Given the description of an element on the screen output the (x, y) to click on. 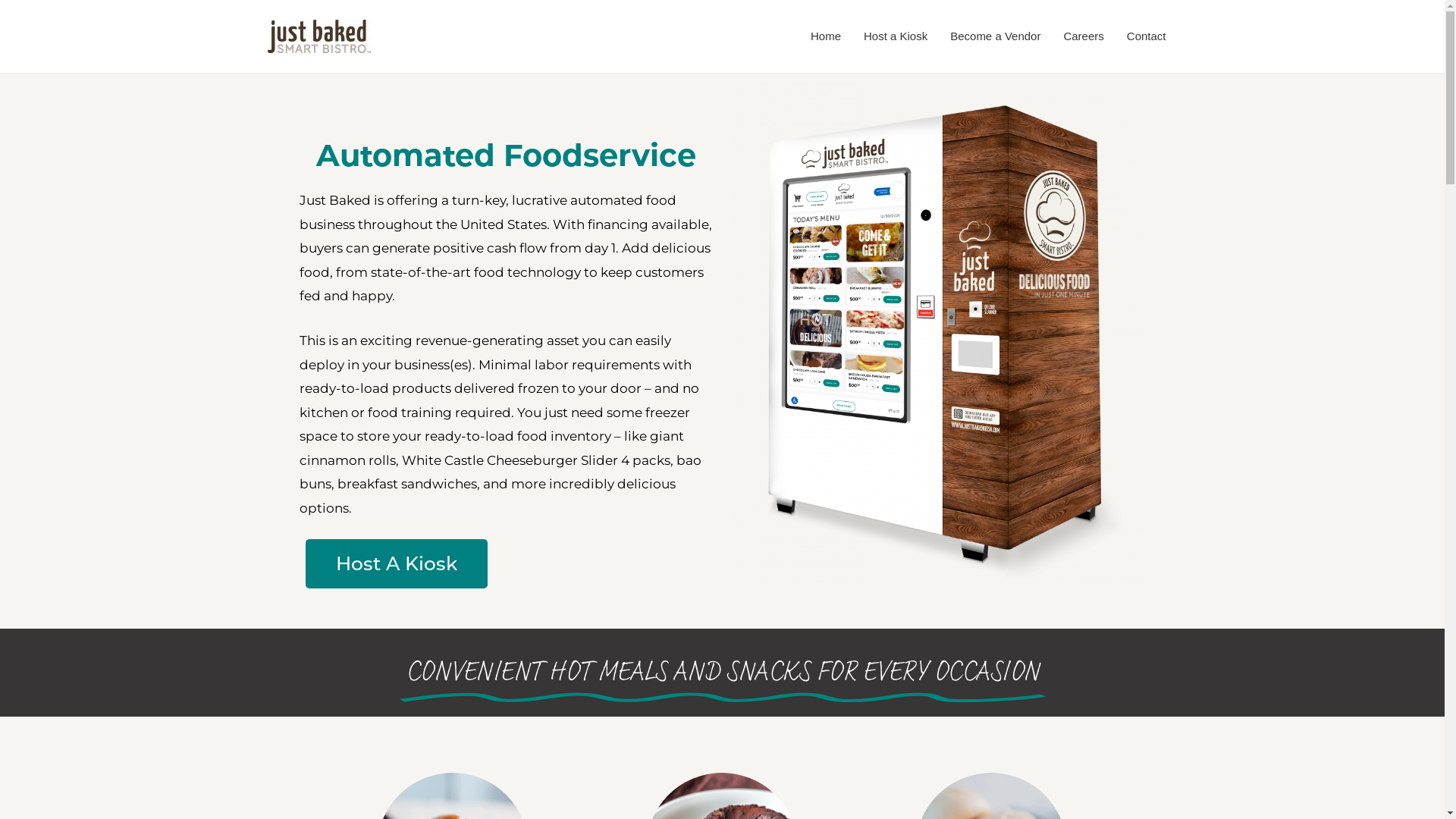
Home Element type: text (825, 36)
Become a Vendor Element type: text (994, 36)
Host A Kiosk Element type: text (395, 563)
Careers Element type: text (1082, 36)
Host a Kiosk Element type: text (895, 36)
Contact Element type: text (1146, 36)
